Given the description of an element on the screen output the (x, y) to click on. 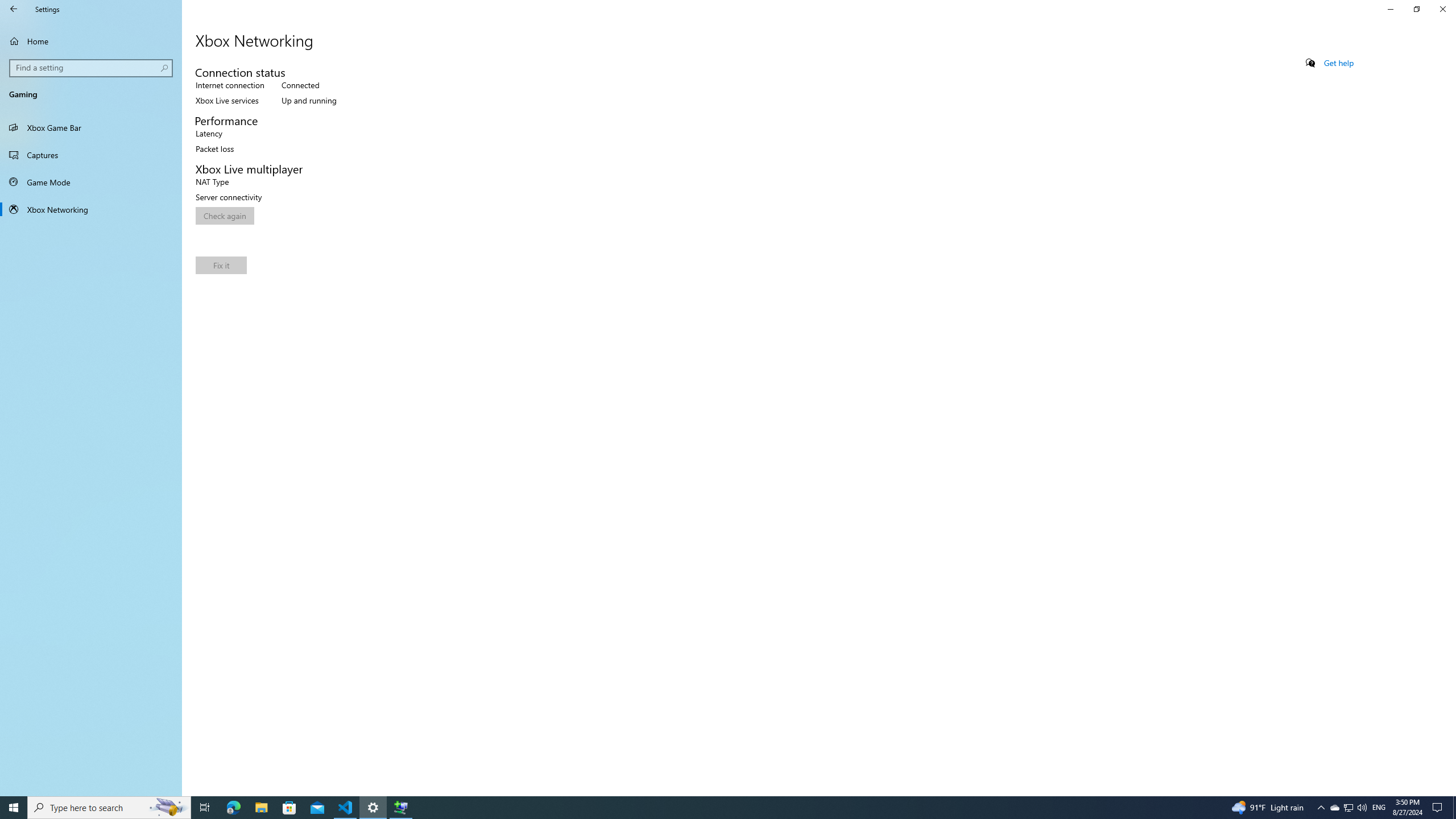
Settings - 1 running window (373, 807)
Fix it (221, 265)
Xbox Game Bar (91, 126)
Check again (224, 215)
Back (13, 9)
Home (91, 40)
Running applications (706, 807)
Search box, Find a setting (91, 67)
